Given the description of an element on the screen output the (x, y) to click on. 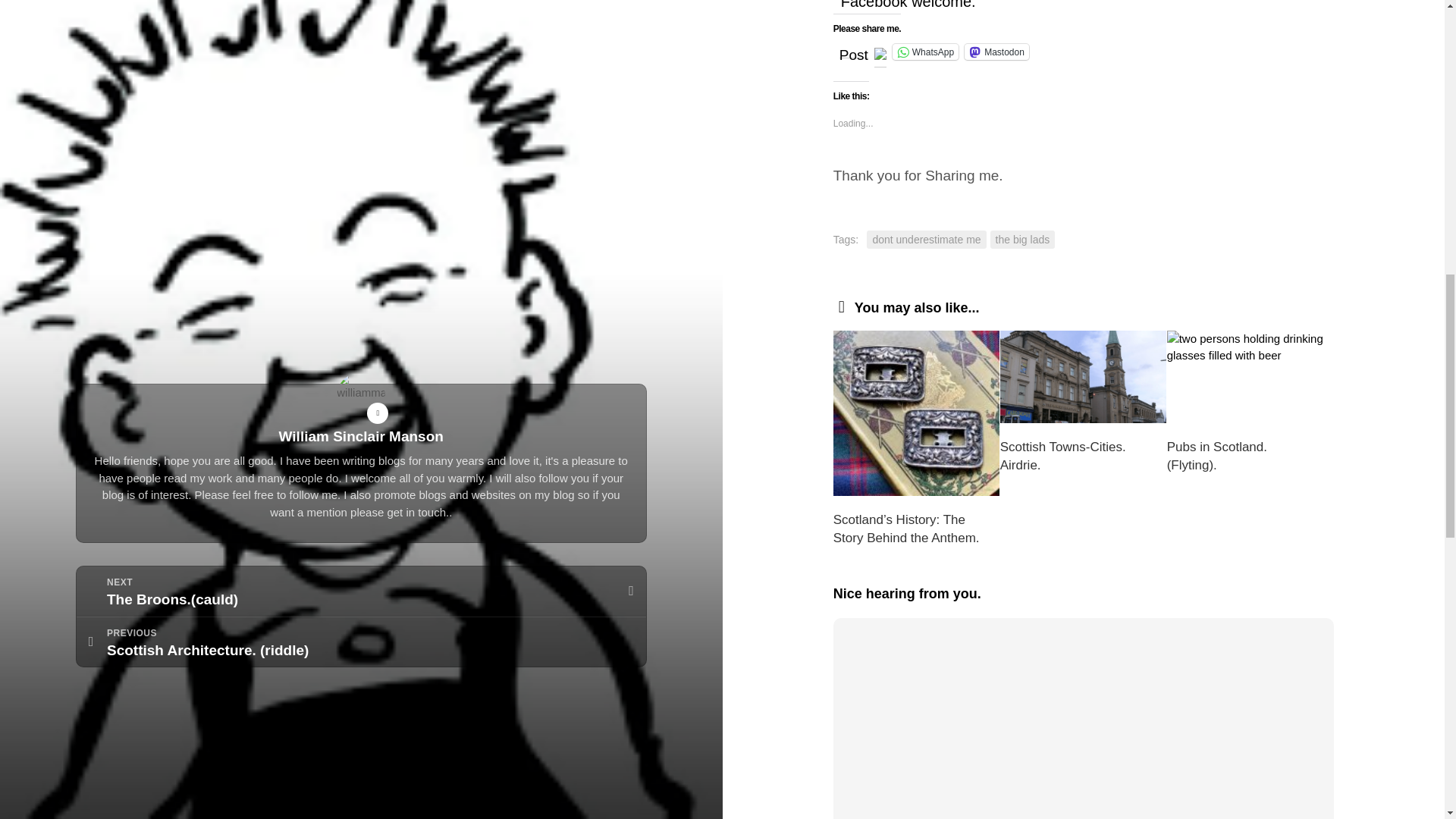
dont underestimate me (925, 239)
Post (853, 50)
Mastodon (996, 51)
WhatsApp (925, 51)
Scottish Towns-Cities. Airdrie. (1062, 455)
the big lads (1022, 239)
Click to share on Mastodon (996, 51)
Click to share on WhatsApp (925, 51)
Comment Form (1083, 722)
